Given the description of an element on the screen output the (x, y) to click on. 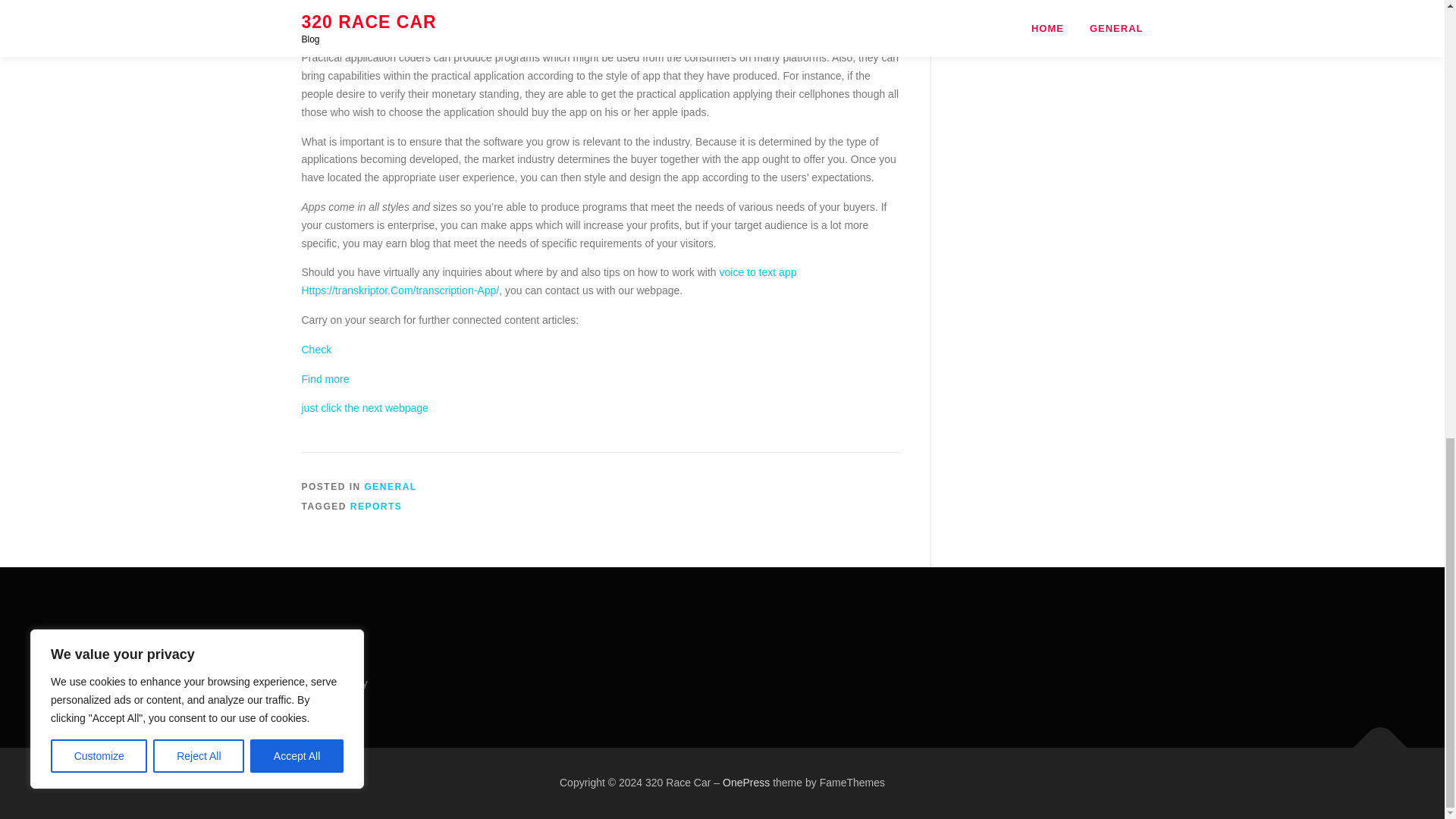
GENERAL (390, 486)
Back To Top (1372, 740)
REPORTS (376, 506)
just click the next webpage (364, 408)
Find more (325, 378)
Check (316, 349)
